Given the description of an element on the screen output the (x, y) to click on. 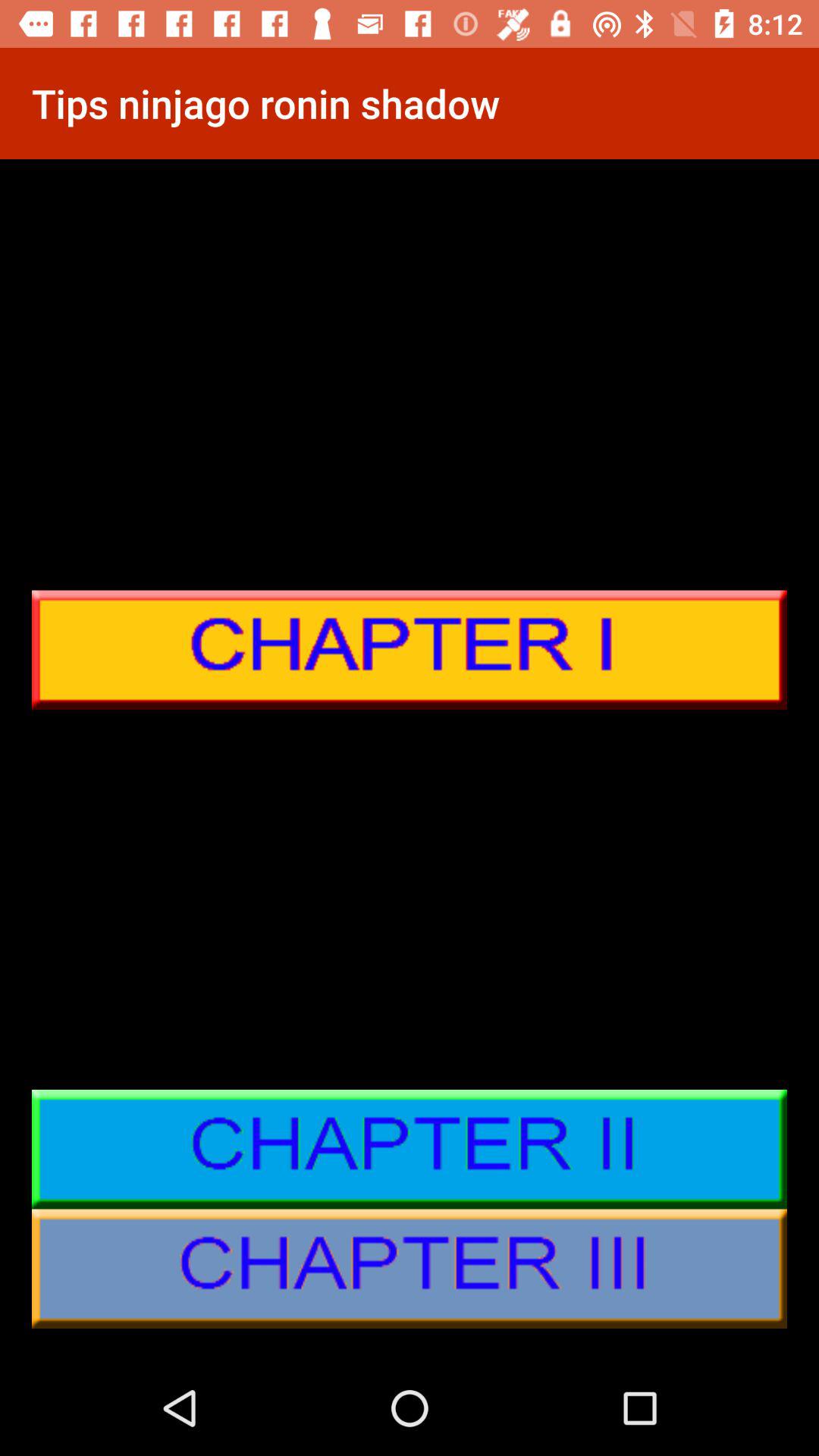
select chapter 3 (409, 1268)
